Given the description of an element on the screen output the (x, y) to click on. 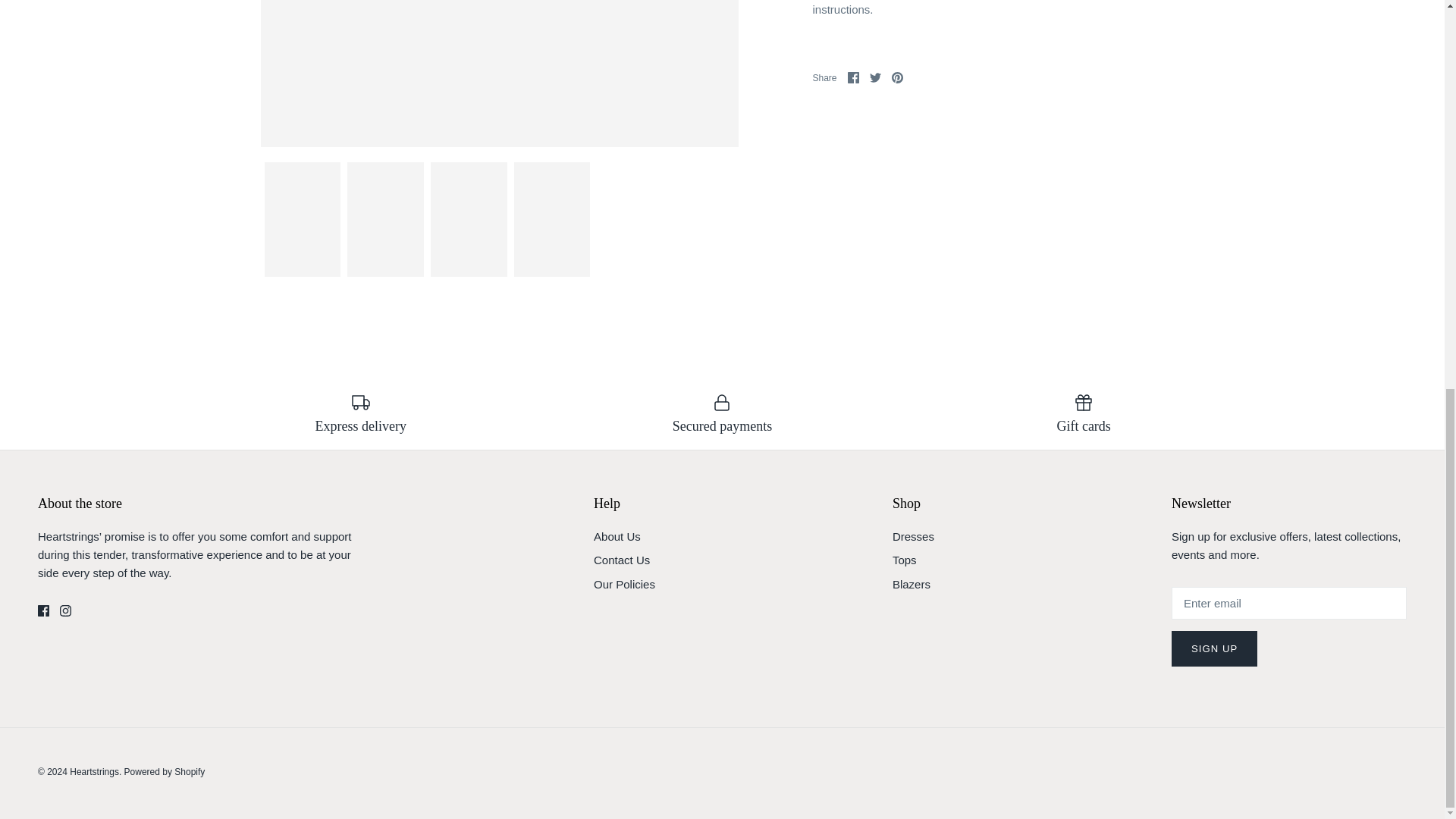
Twitter (874, 77)
Facebook (43, 610)
Pinterest (896, 77)
Instagram (65, 610)
Facebook (853, 77)
